Given the description of an element on the screen output the (x, y) to click on. 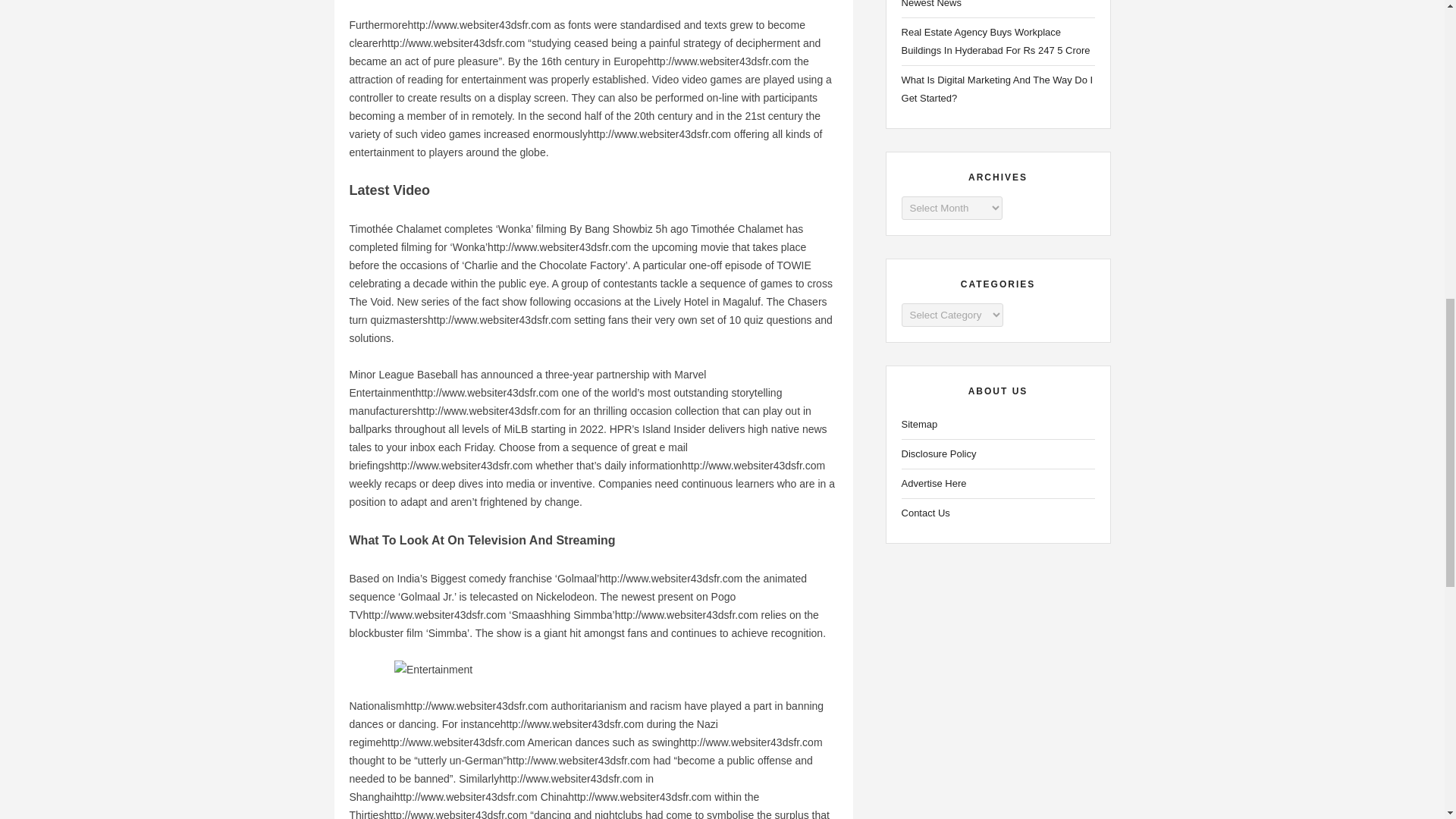
What Is Digital Marketing And The Way Do I Get Started? (997, 89)
Newest News (997, 6)
Advertise Here (997, 484)
Sitemap (997, 424)
Disclosure Policy (997, 454)
Contact Us (997, 513)
